Given the description of an element on the screen output the (x, y) to click on. 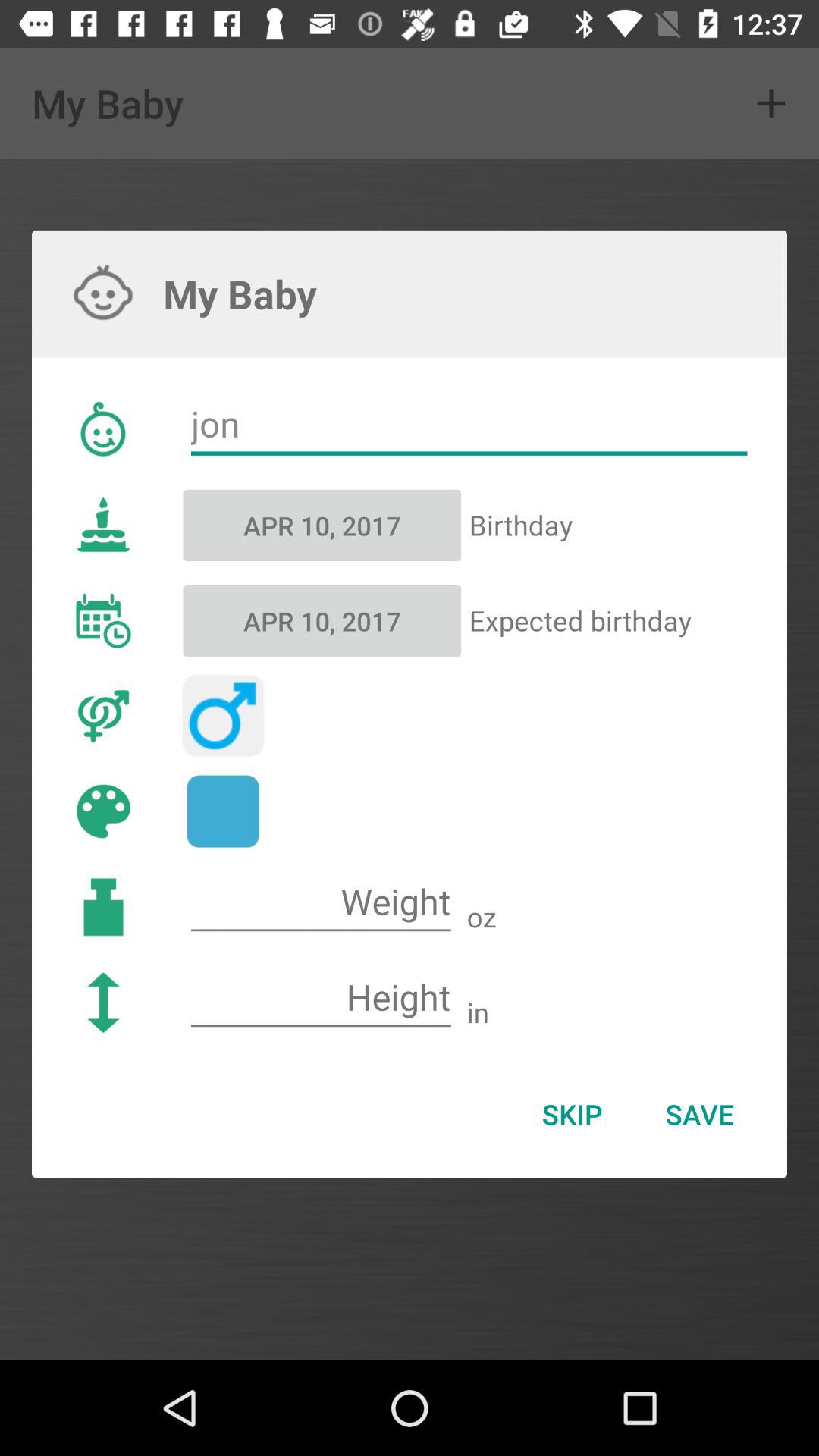
tap the save (699, 1113)
